Given the description of an element on the screen output the (x, y) to click on. 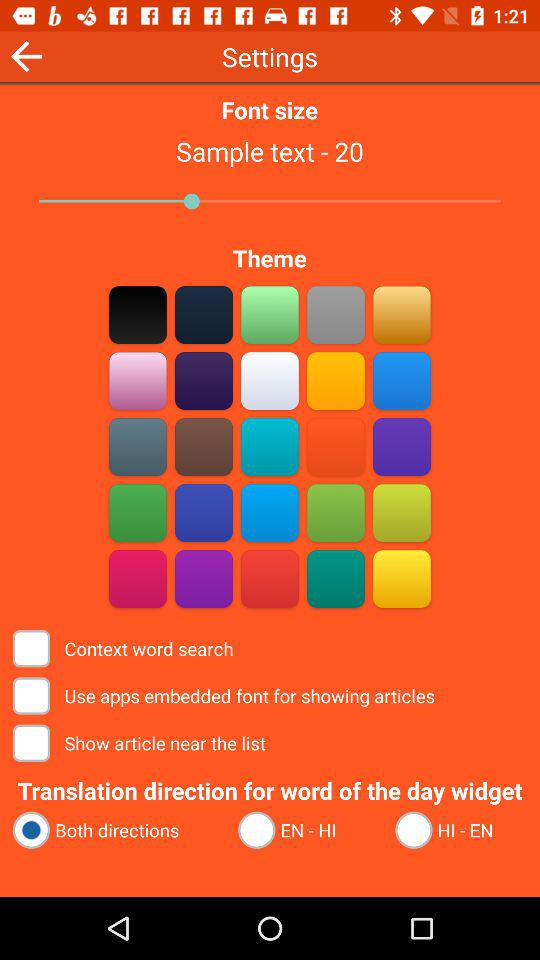
select color (269, 446)
